Given the description of an element on the screen output the (x, y) to click on. 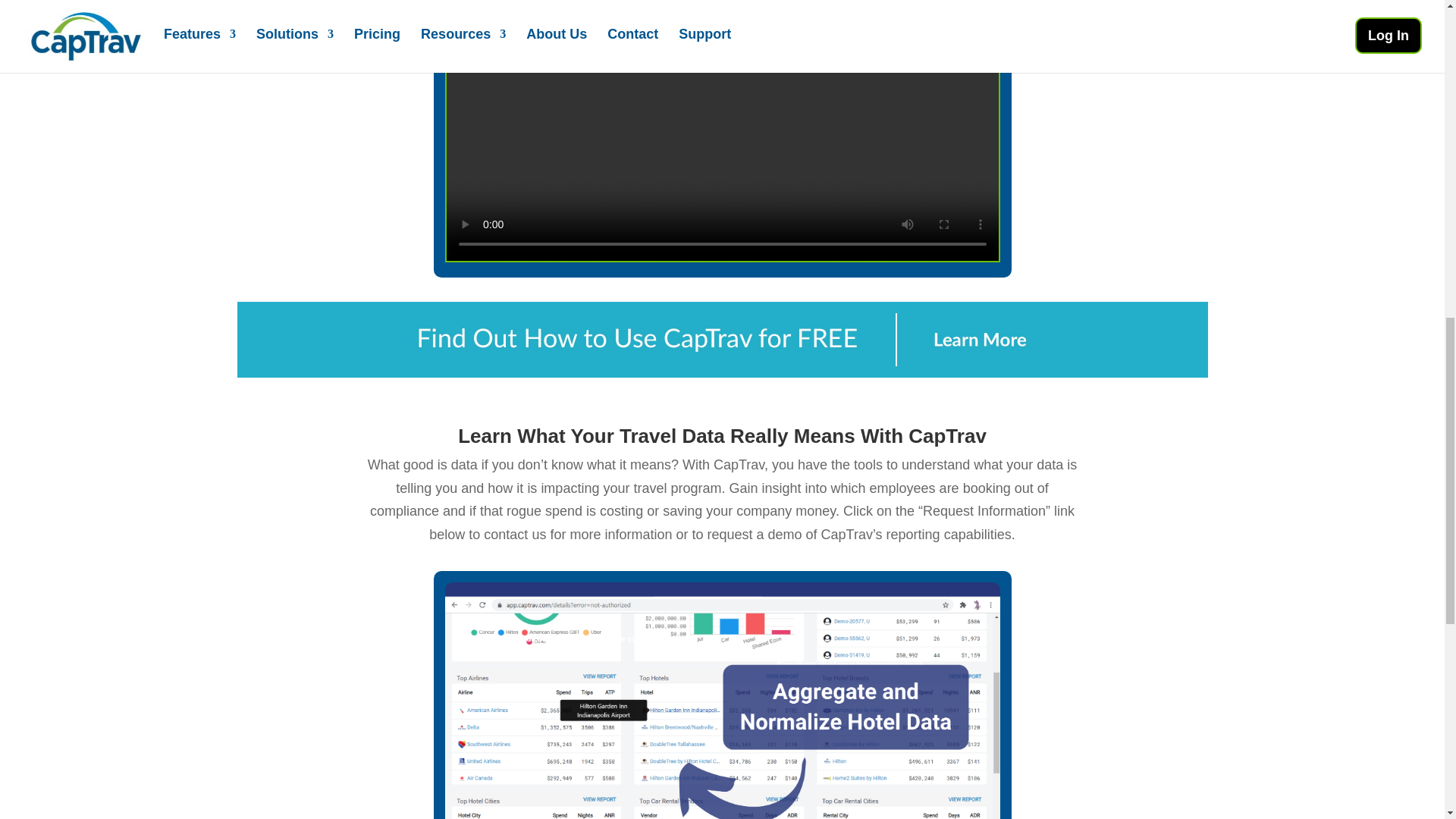
find-out-how-to-use-captrav-for-free (721, 339)
